Given the description of an element on the screen output the (x, y) to click on. 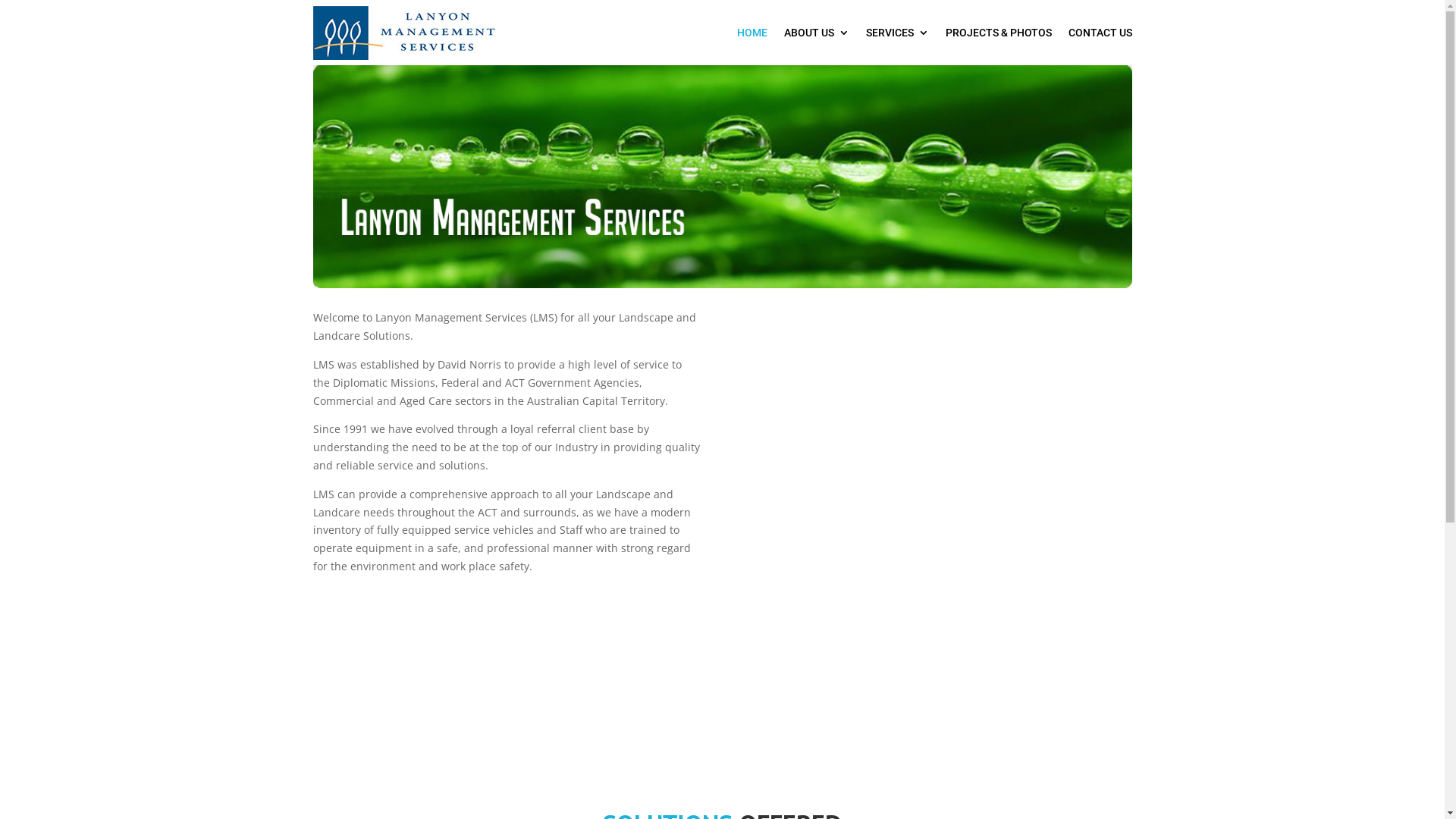
HOME Element type: text (752, 32)
CONTACT US Element type: text (1099, 32)
SERVICES Element type: text (897, 32)
PROJECTS & PHOTOS Element type: text (997, 32)
Lanyon Management Services - Awards Video Master V2 Element type: hover (937, 538)
ABOUT US Element type: text (816, 32)
home Element type: hover (721, 176)
